Given the description of an element on the screen output the (x, y) to click on. 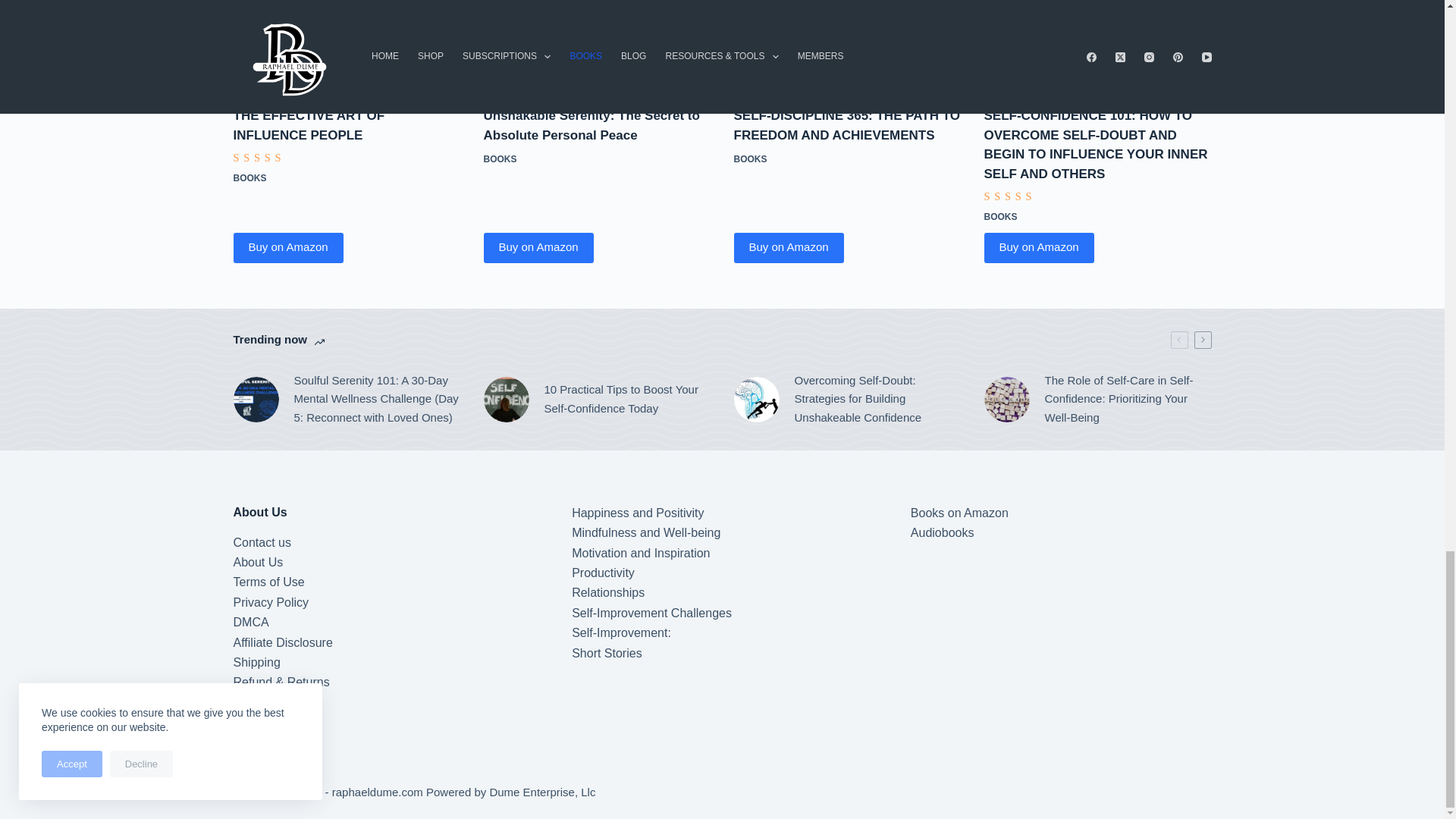
Unshakable Serenity: The Secret to Absolute Personal Peace (597, 43)
THE EFFECTIVE ART OF INFLUENCE PEOPLE (346, 43)
SELF-DISCIPLINE 365: THE PATH TO FREEDOM AND ACHIEVEMENTS (846, 43)
